Given the description of an element on the screen output the (x, y) to click on. 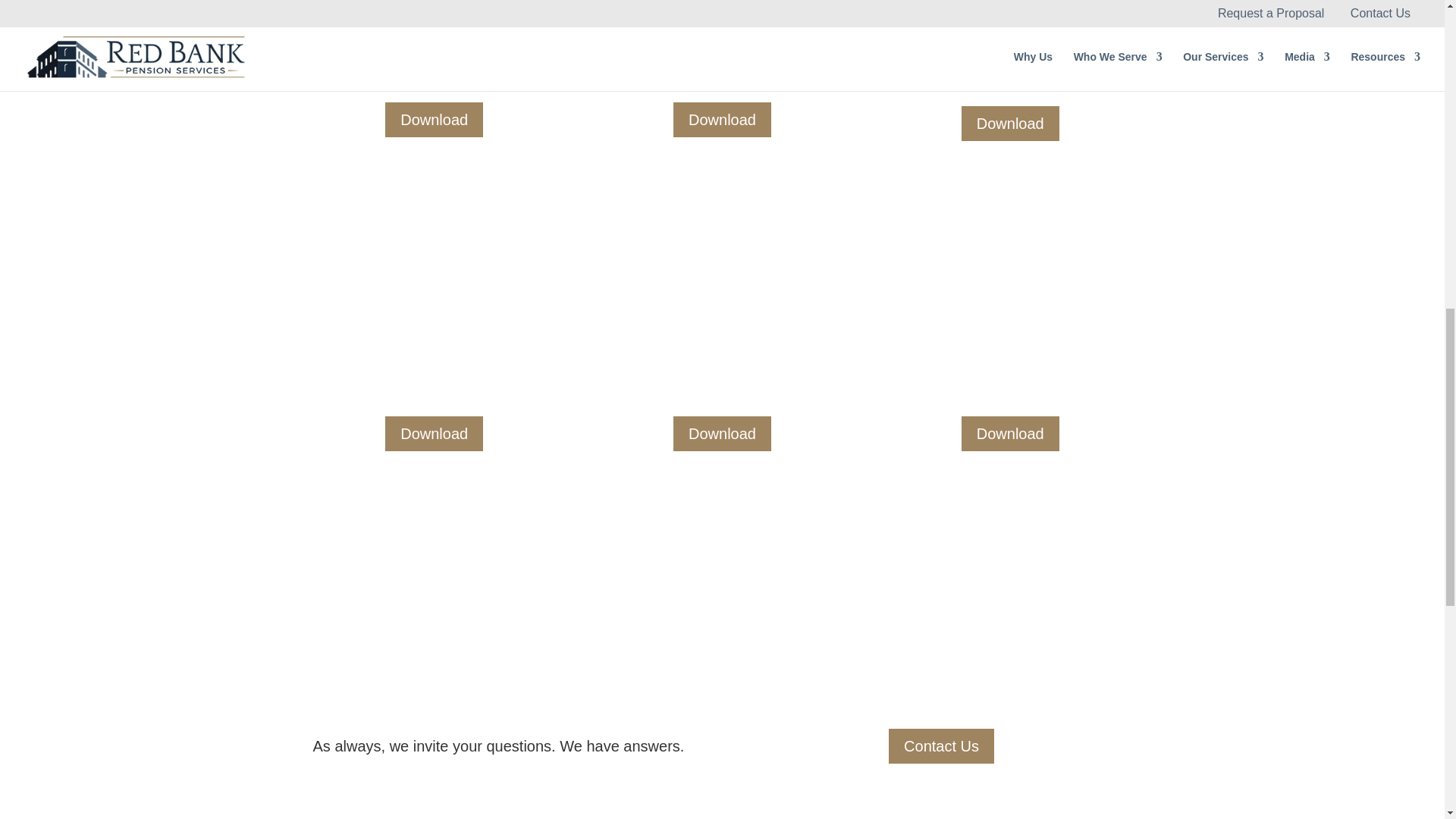
Contact Us (941, 745)
Download (721, 433)
Download (1009, 123)
Download (721, 119)
Download (434, 433)
Download (434, 119)
Download (1009, 433)
